Given the description of an element on the screen output the (x, y) to click on. 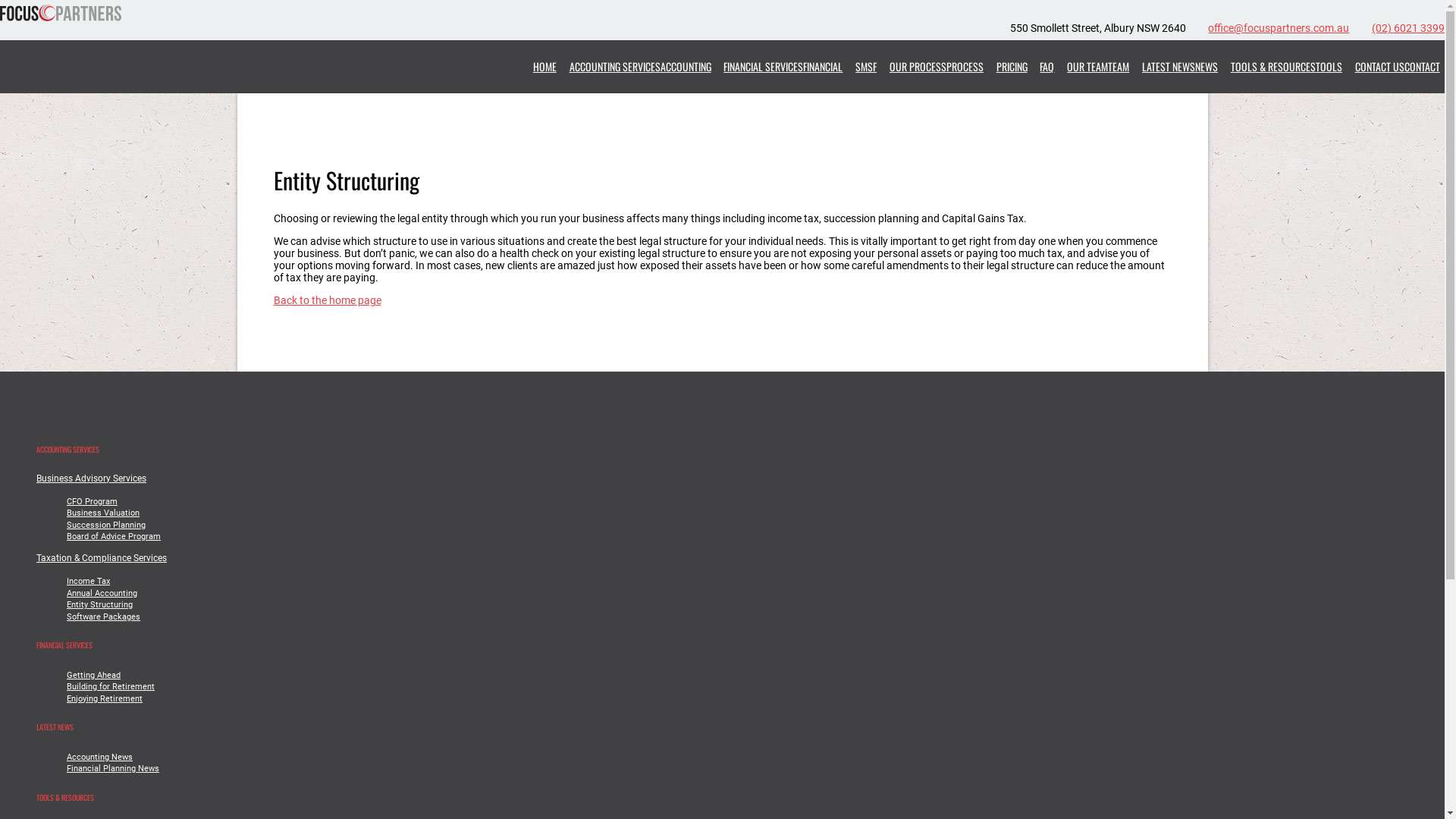
CFO Program Element type: text (91, 501)
HOME Element type: text (544, 66)
Annual Accounting Element type: text (101, 593)
FAQ Element type: text (1047, 66)
OUR PROCESSPROCESS Element type: text (936, 66)
Getting Ahead Element type: text (93, 675)
Accounting News Element type: text (99, 757)
(02) 6021 3399 Element type: text (1407, 27)
office@focuspartners.com.au Element type: text (1278, 27)
CONTACT USCONTACT Element type: text (1396, 66)
FINANCIAL SERVICESFINANCIAL Element type: text (782, 66)
Entity Structuring Element type: text (99, 604)
LATEST NEWSNEWS Element type: text (1180, 66)
Income Tax Element type: text (87, 581)
OUR TEAMTEAM Element type: text (1098, 66)
TOOLS & RESOURCESTOOLS Element type: text (1285, 66)
PRICING Element type: text (1011, 66)
Enjoying Retirement Element type: text (104, 698)
Back to the home page Element type: text (326, 300)
Building for Retirement Element type: text (110, 686)
Succession Planning Element type: text (105, 525)
SMSF Element type: text (865, 66)
Board of Advice Program Element type: text (113, 536)
Business Valuation Element type: text (102, 512)
Financial Planning News Element type: text (112, 768)
Software Packages Element type: text (103, 616)
ACCOUNTING SERVICESACCOUNTING Element type: text (639, 66)
